Given the description of an element on the screen output the (x, y) to click on. 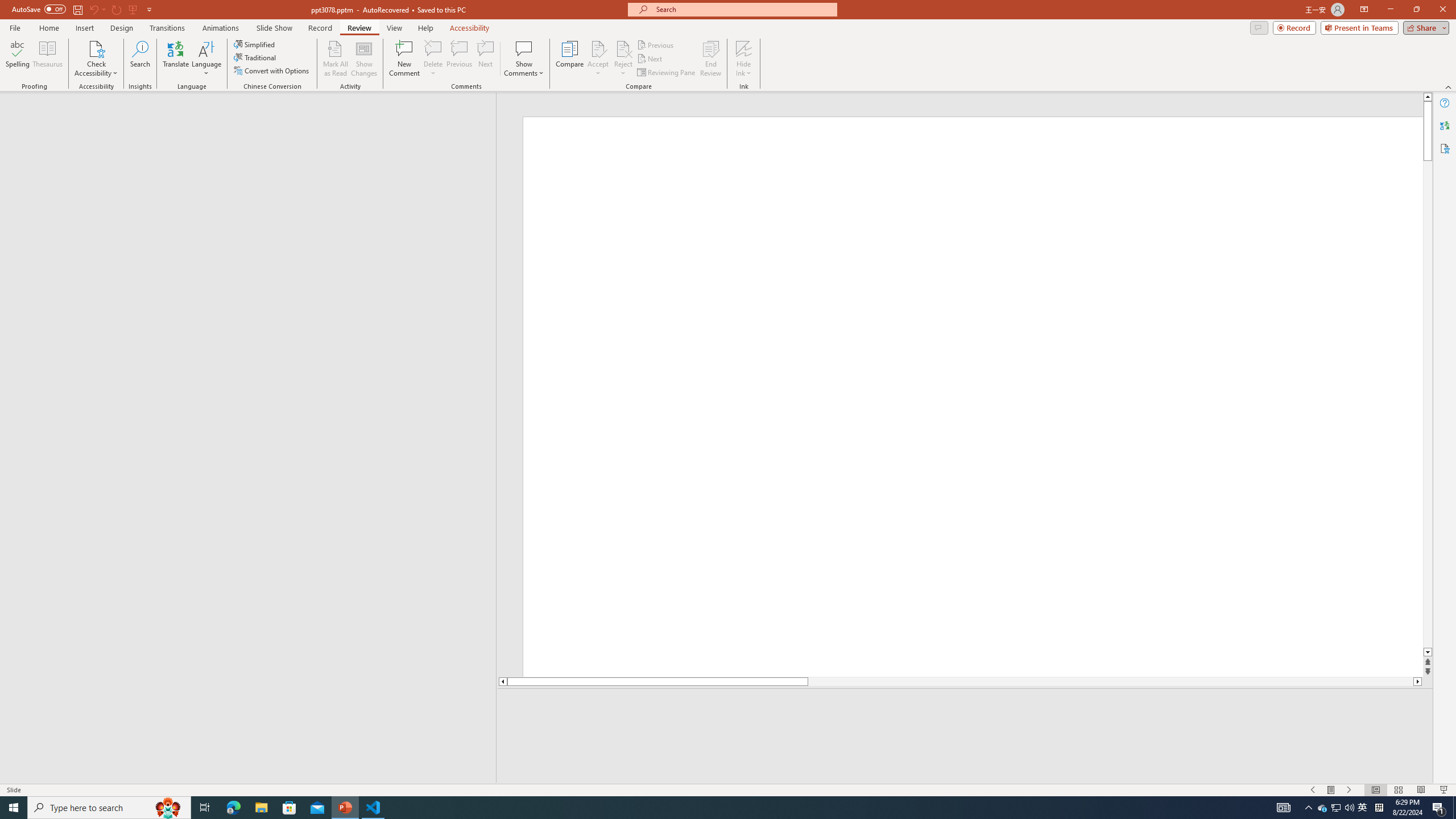
Outline (252, 114)
Simplified (254, 44)
Language (206, 58)
Slide Show Next On (1349, 790)
Compare (569, 58)
Thesaurus... (47, 58)
Accept (598, 58)
Hide Ink (743, 48)
Menu On (1331, 790)
